Given the description of an element on the screen output the (x, y) to click on. 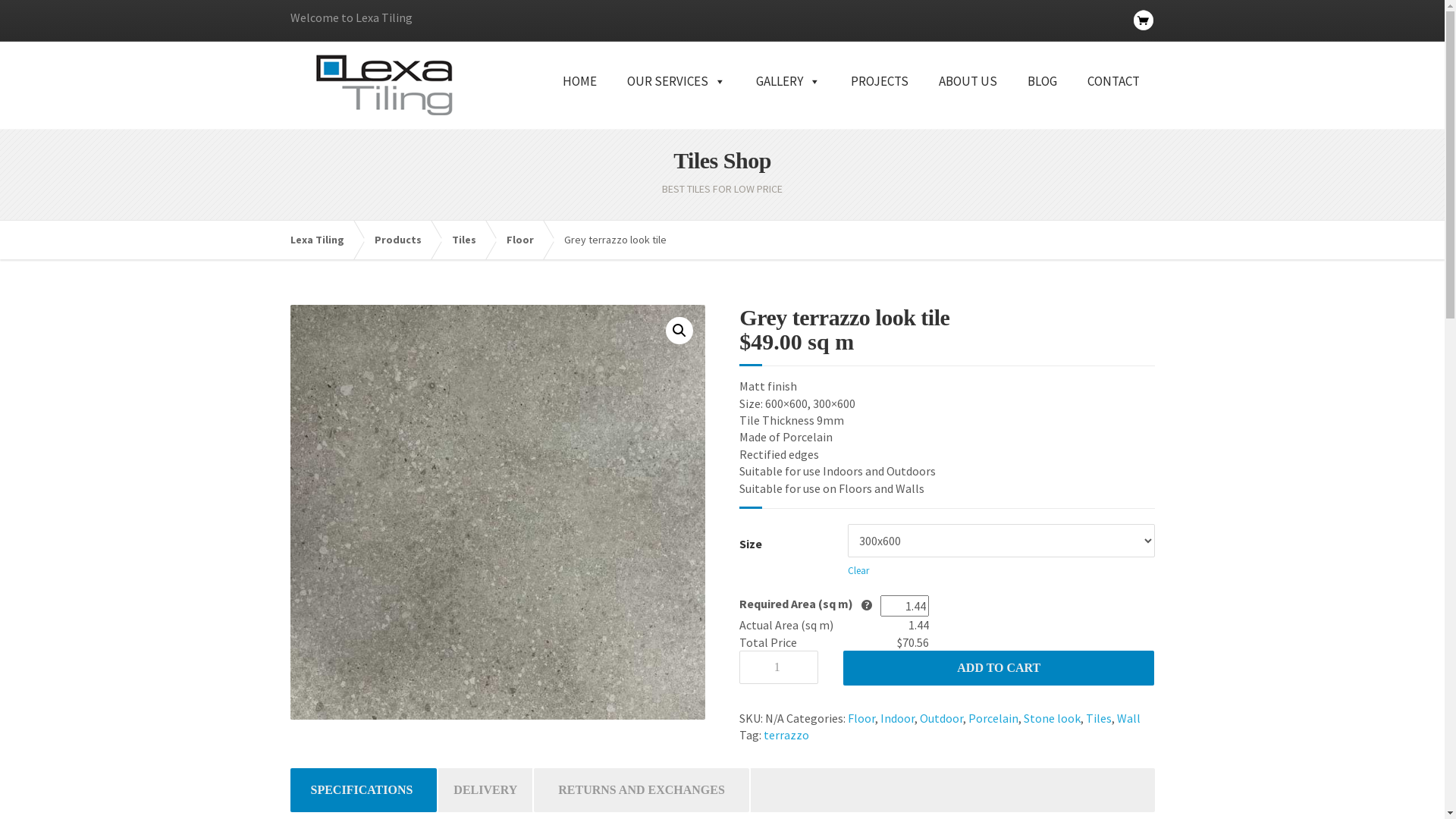
ADD TO CART Element type: text (998, 667)
CONTACT Element type: text (1113, 98)
BLOG Element type: text (1041, 98)
DELIVERY Element type: text (485, 789)
Outdoor Element type: text (941, 717)
Wall Element type: text (1128, 717)
Tiles Element type: text (1098, 717)
HOME Element type: text (579, 98)
ABOUT US Element type: text (967, 98)
OUR SERVICES Element type: text (675, 98)
GALLERY Element type: text (787, 98)
terrazzo Element type: text (786, 734)
Porcelain Element type: text (993, 717)
Indoor Element type: text (897, 717)
PROJECTS Element type: text (879, 98)
RETURNS AND EXCHANGES Element type: text (641, 789)
Stone look Element type: text (1051, 717)
Products Element type: text (405, 239)
Qty Element type: hover (778, 667)
Floor Element type: text (527, 239)
Lexa Tiling Element type: text (323, 239)
Floor Element type: text (861, 717)
9-Grey-terrazzo-look-tile Element type: hover (496, 511)
Clear Element type: text (858, 570)
Tiles Element type: text (471, 239)
SPECIFICATIONS Element type: text (360, 789)
